Given the description of an element on the screen output the (x, y) to click on. 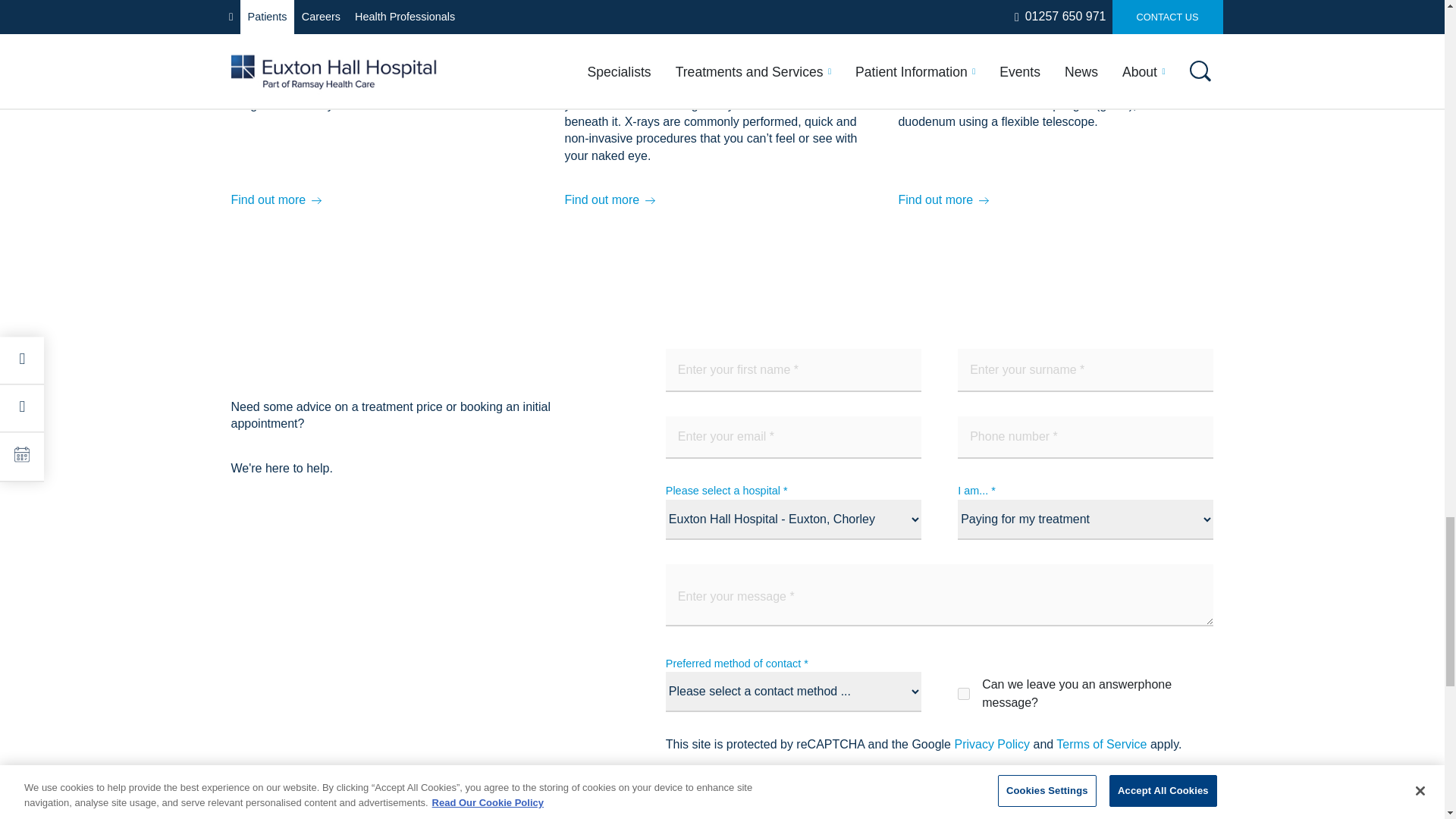
on (963, 693)
